Given the description of an element on the screen output the (x, y) to click on. 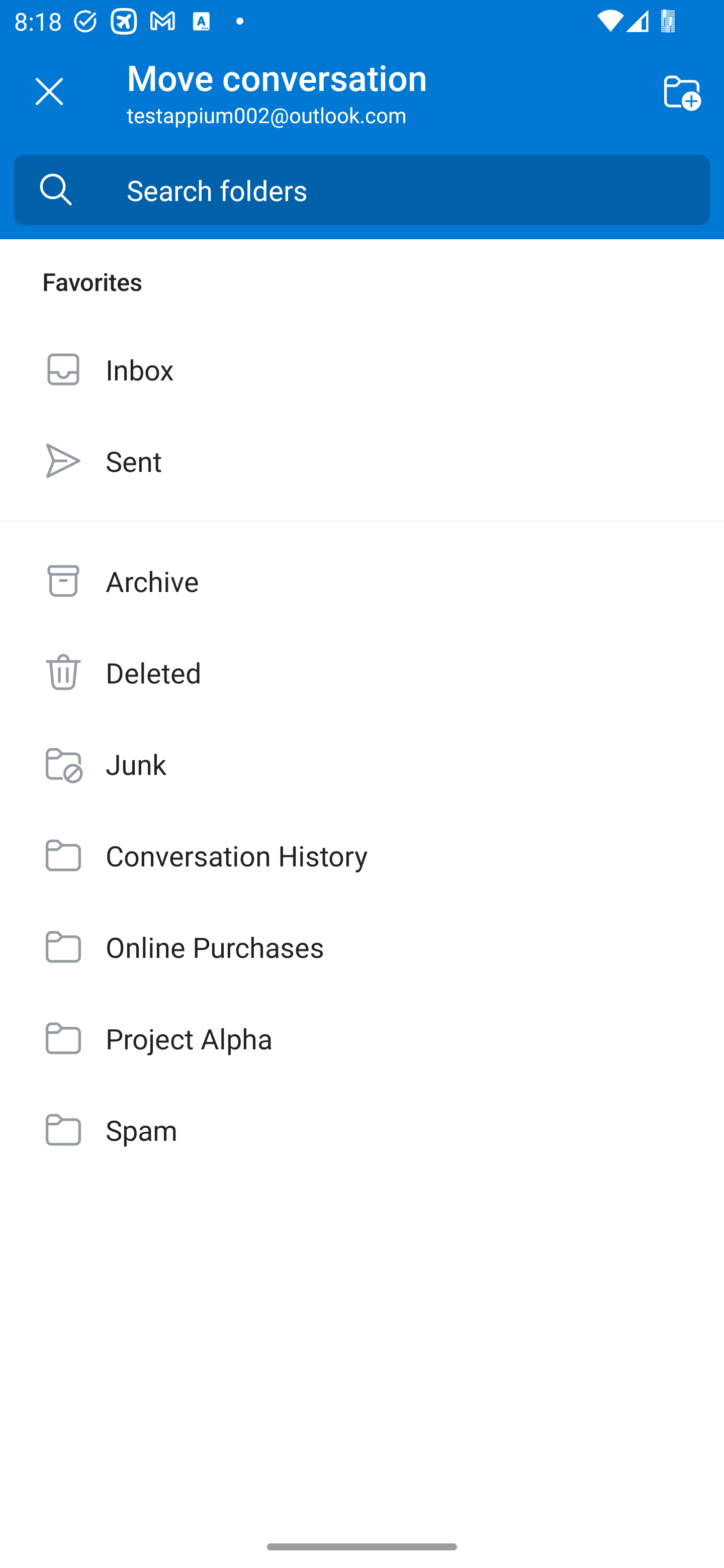
Move conversation, Cancel (49, 91)
Create new folder (681, 90)
Search folders (418, 190)
Inbox (362, 369)
Sent (362, 460)
Archive (362, 580)
Deleted (362, 672)
Junk (362, 763)
Conversation History (362, 855)
Online Purchases (362, 946)
Project Alpha (362, 1037)
Spam (362, 1129)
